Given the description of an element on the screen output the (x, y) to click on. 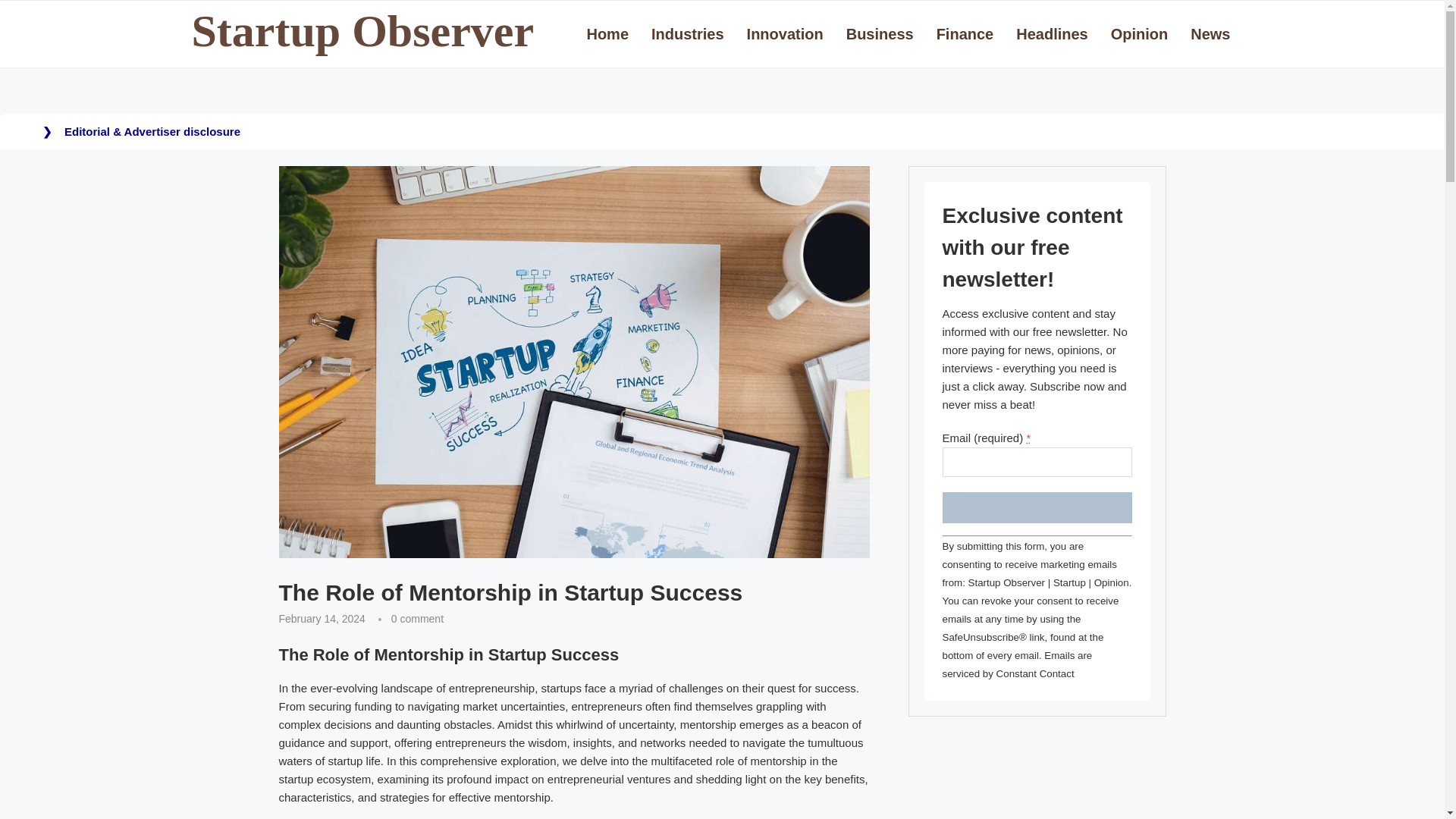
Emails are serviced by Constant Contact (1017, 664)
Innovation (785, 33)
Sign up! (1036, 507)
Startup Observer (362, 31)
Home (292, 143)
Headlines (1051, 33)
Sign up! (1036, 507)
Business (357, 143)
Business (879, 33)
Industries (686, 33)
